Given the description of an element on the screen output the (x, y) to click on. 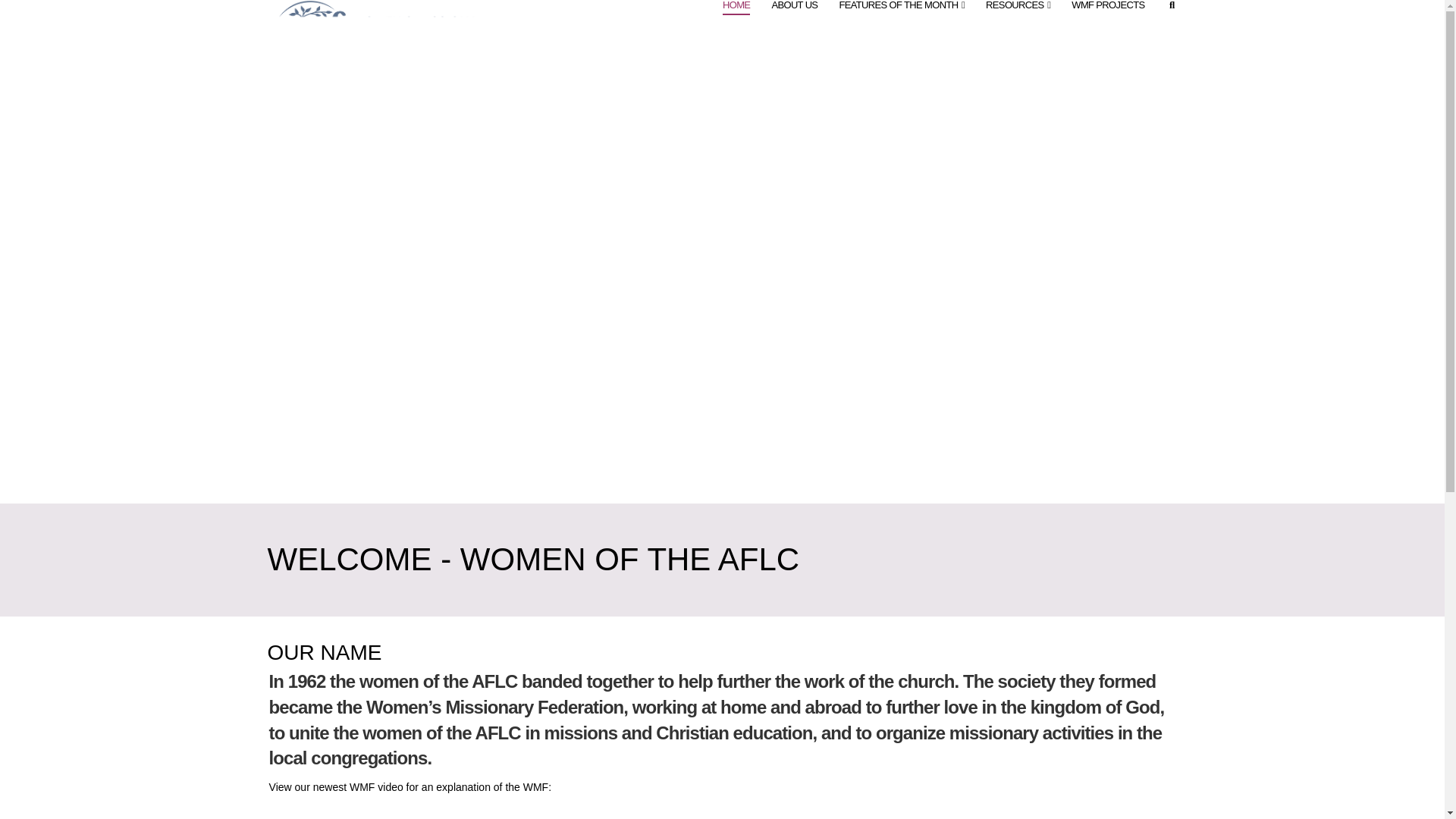
HOME (735, 18)
WMF PROJECTS (1107, 18)
FEATURES OF THE MONTH (901, 18)
ABOUT US (794, 18)
RESOURCES (1018, 18)
